Given the description of an element on the screen output the (x, y) to click on. 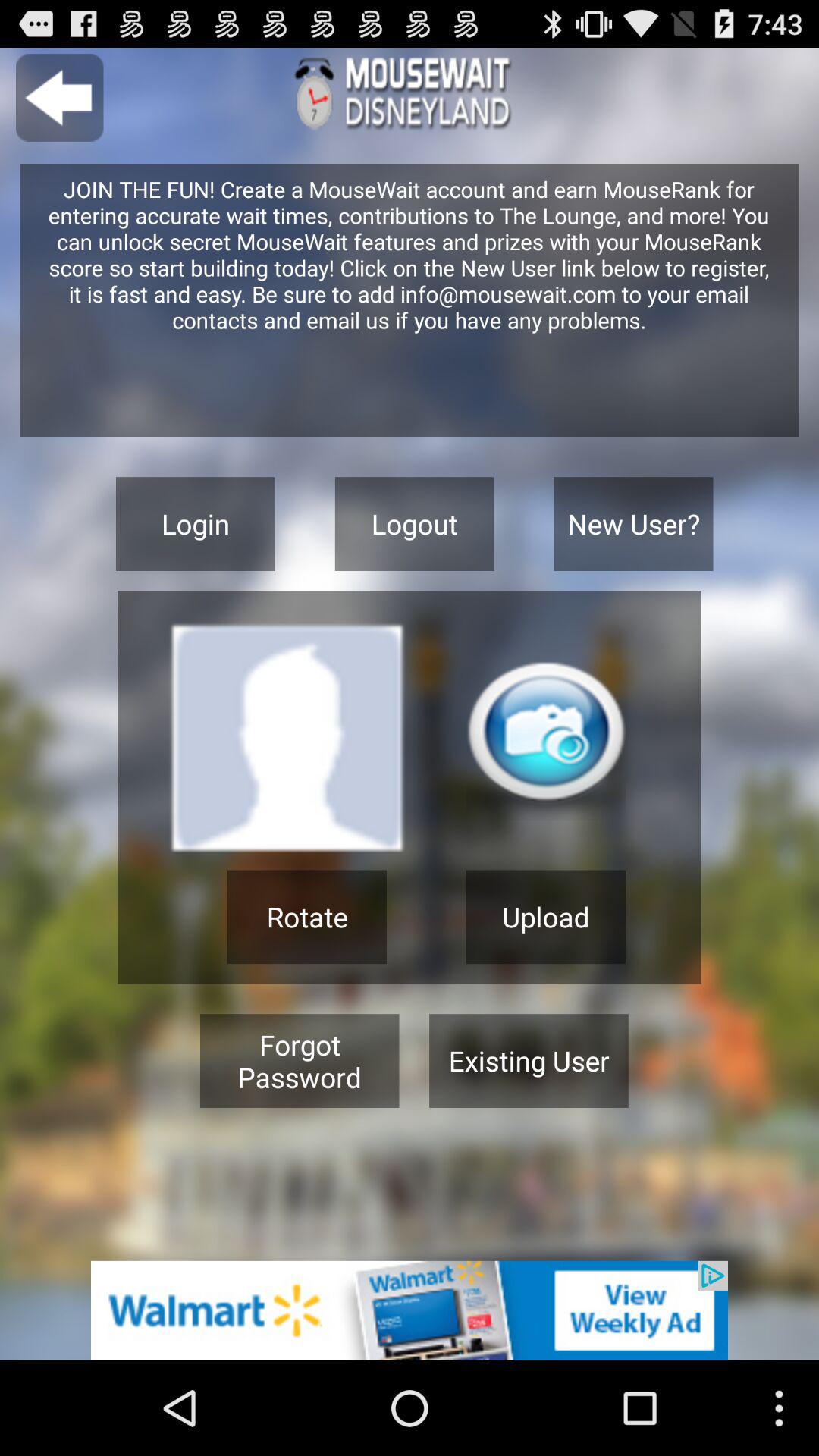
go to previous option (59, 97)
